Given the description of an element on the screen output the (x, y) to click on. 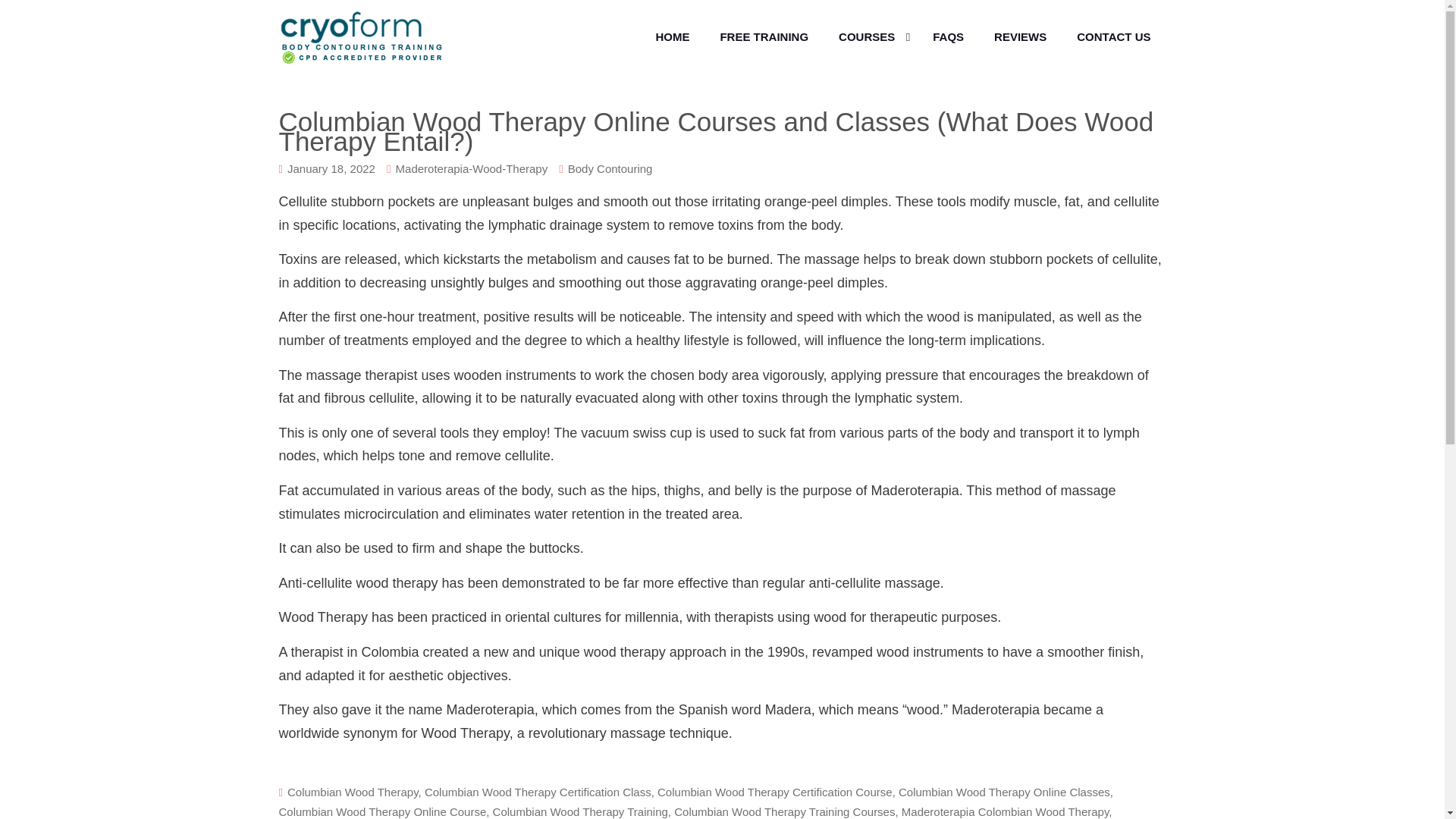
Columbian Wood Therapy Online Course (382, 811)
Body Contouring (609, 168)
CONTACT US (1113, 37)
Columbian Wood Therapy Certification Course (775, 791)
Maderoterapia Colombian Wood Therapy (1005, 811)
Columbian Wood Therapy Training Courses (784, 811)
REVIEWS (1019, 37)
Maderoterapia-Wood-Therapy (472, 168)
Columbian Wood Therapy Training (580, 811)
January 18, 2022 (330, 168)
Columbian Wood Therapy Online Classes (1003, 791)
Columbian Wood Therapy (352, 791)
Columbian Wood Therapy Certification Class (537, 791)
FREE TRAINING (764, 37)
COURSES (870, 37)
